Given the description of an element on the screen output the (x, y) to click on. 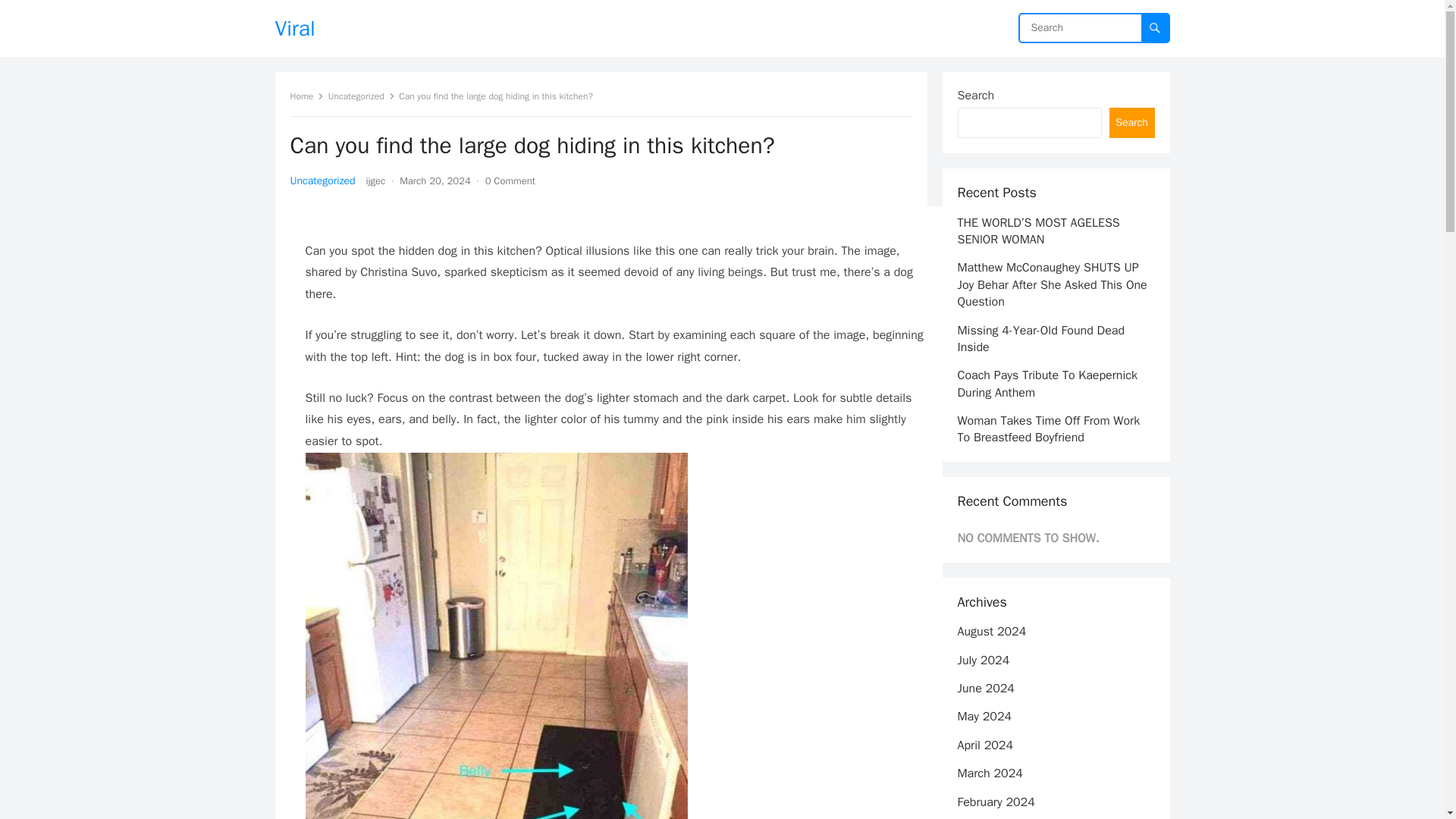
ijgec (375, 180)
Home (306, 96)
Uncategorized (322, 180)
Uncategorized (361, 96)
Posts by ijgec (375, 180)
0 Comment (509, 180)
